Given the description of an element on the screen output the (x, y) to click on. 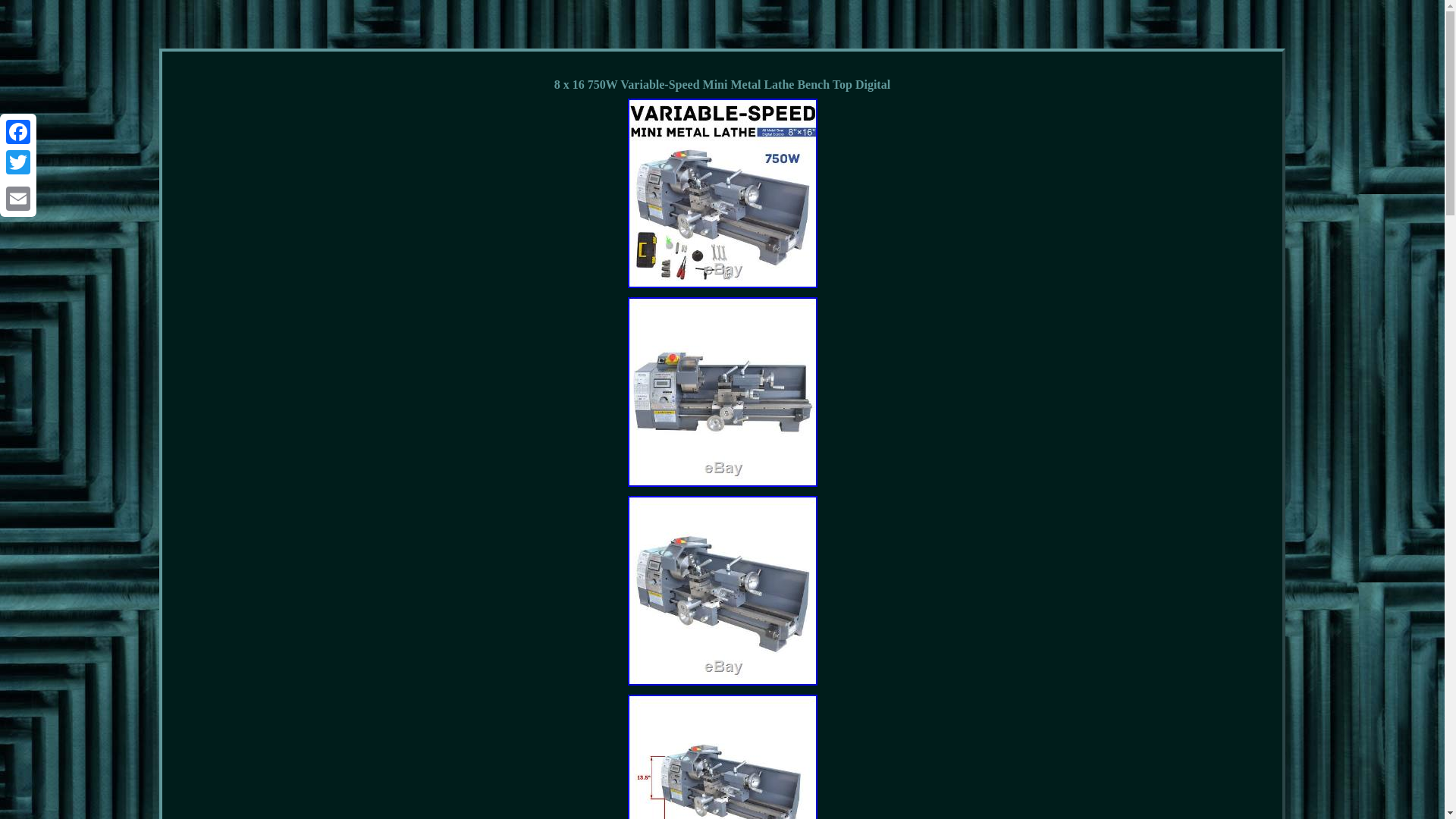
Twitter (17, 162)
Facebook (17, 132)
Email (17, 198)
